Given the description of an element on the screen output the (x, y) to click on. 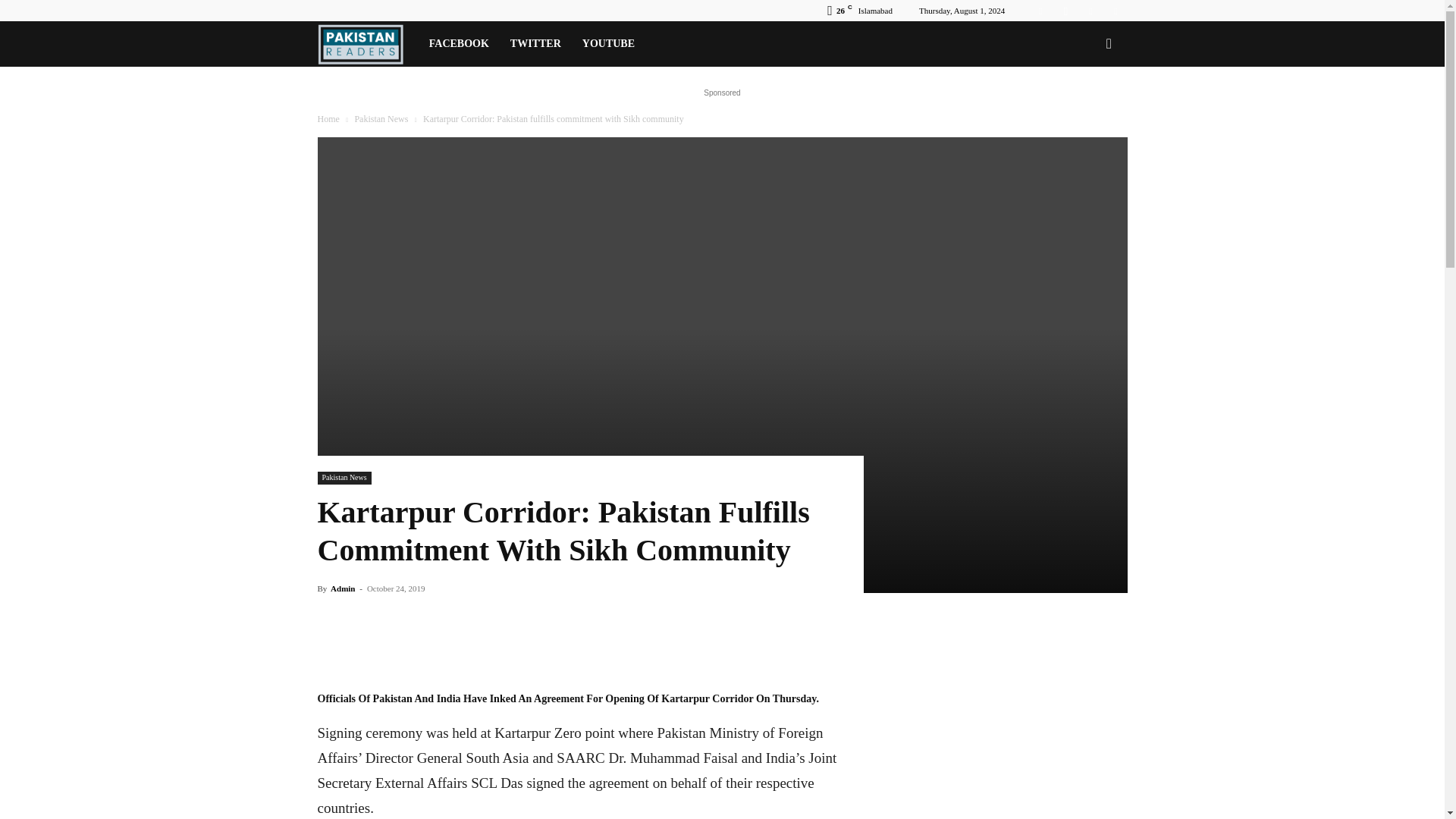
FACEBOOK (459, 43)
TWITTER (535, 43)
Admin (342, 587)
Search (1085, 109)
Pakistan News (344, 477)
YOUTUBE (608, 43)
Instagram (1065, 10)
Home (328, 118)
View all posts in Pakistan News (380, 118)
Facebook (1040, 10)
Youtube (1114, 10)
Pakistan Readers (367, 44)
Twitter (1090, 10)
Pakistan News (380, 118)
